Given the description of an element on the screen output the (x, y) to click on. 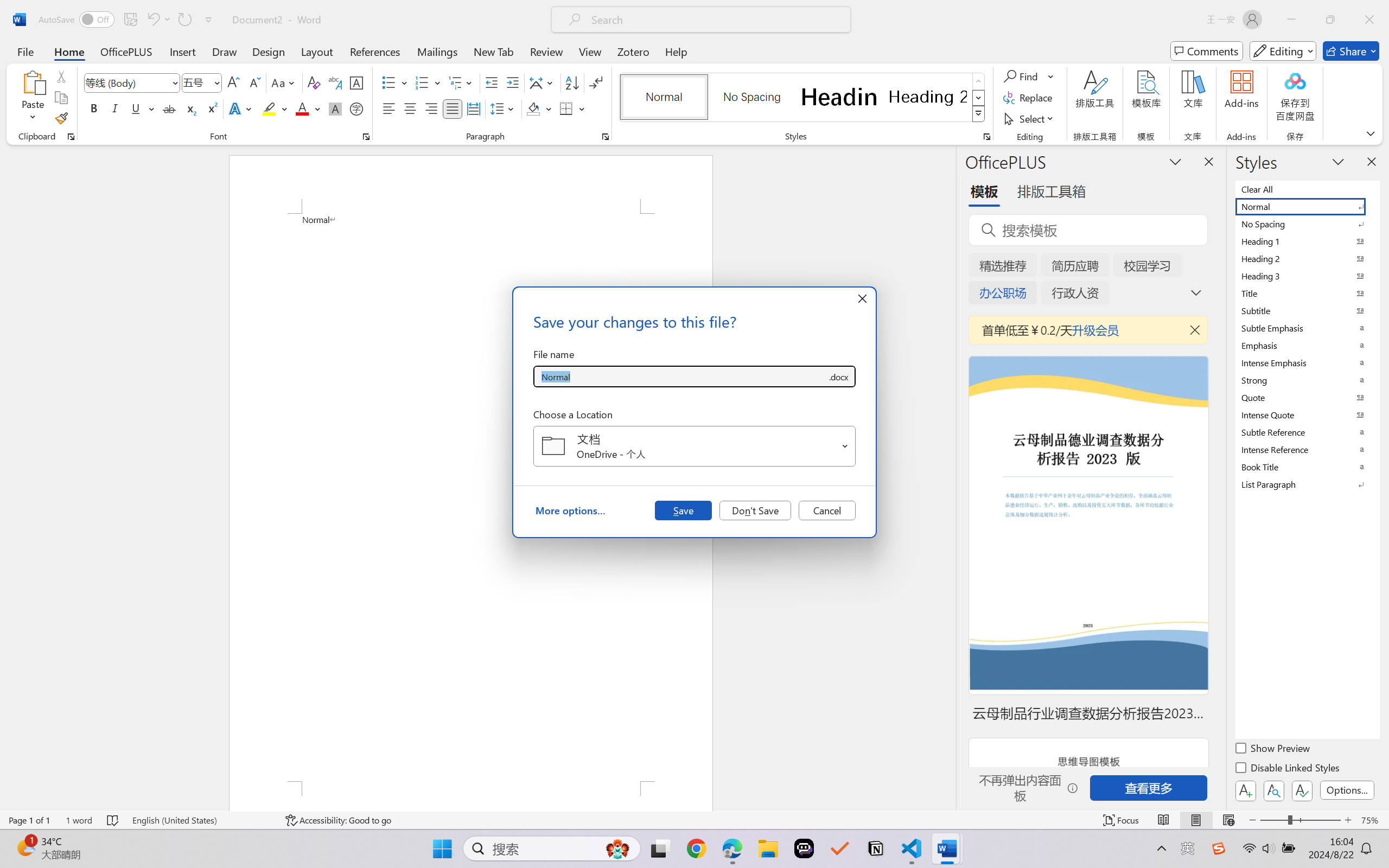
Share (1350, 51)
View (589, 51)
Change Case (284, 82)
Class: Image (1218, 847)
Review (546, 51)
Shading RGB(0, 0, 0) (533, 108)
Poe (804, 848)
Format Painter (60, 118)
Bullets (395, 82)
